Given the description of an element on the screen output the (x, y) to click on. 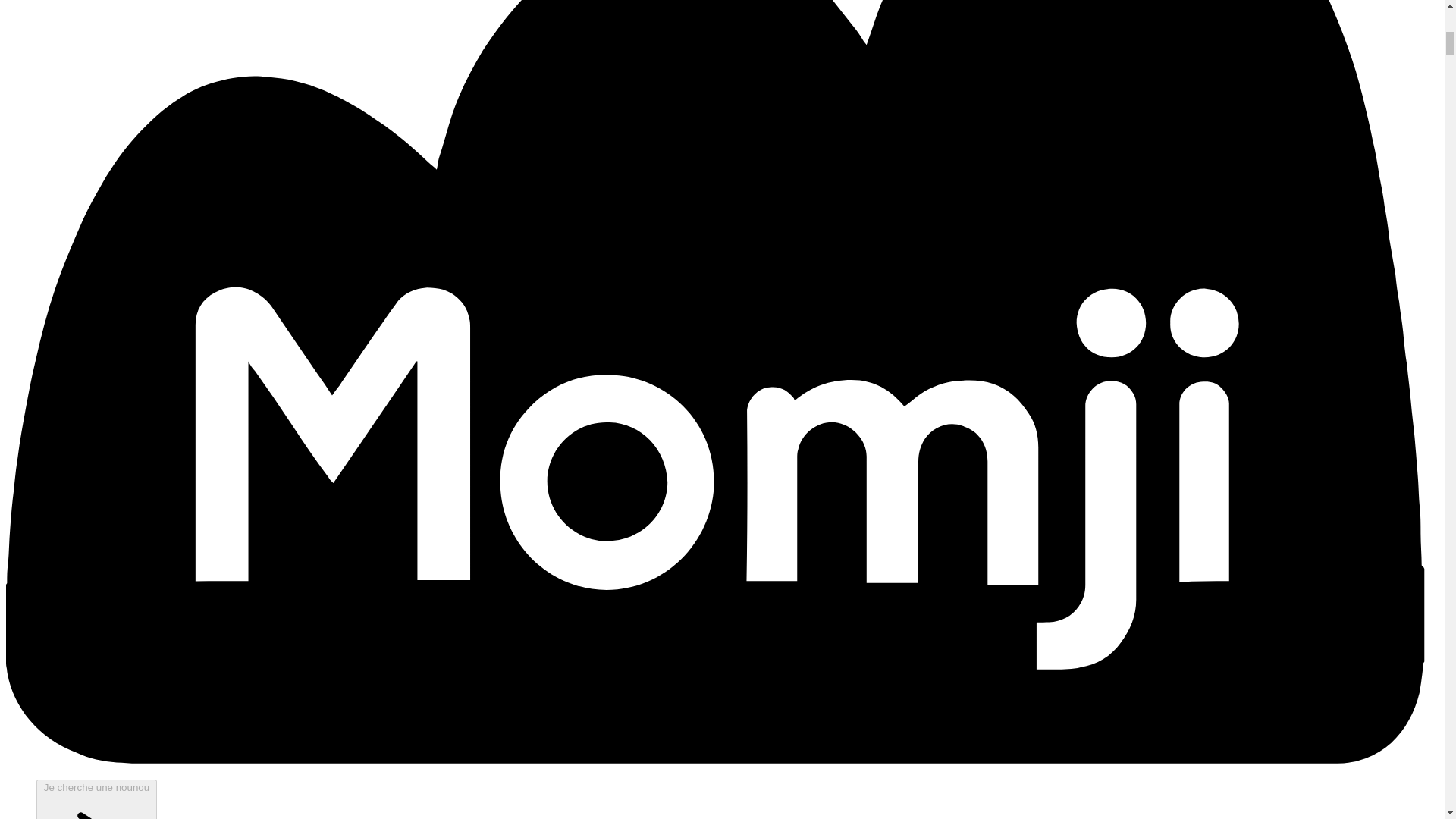
Je cherche une nounou (96, 799)
